Given the description of an element on the screen output the (x, y) to click on. 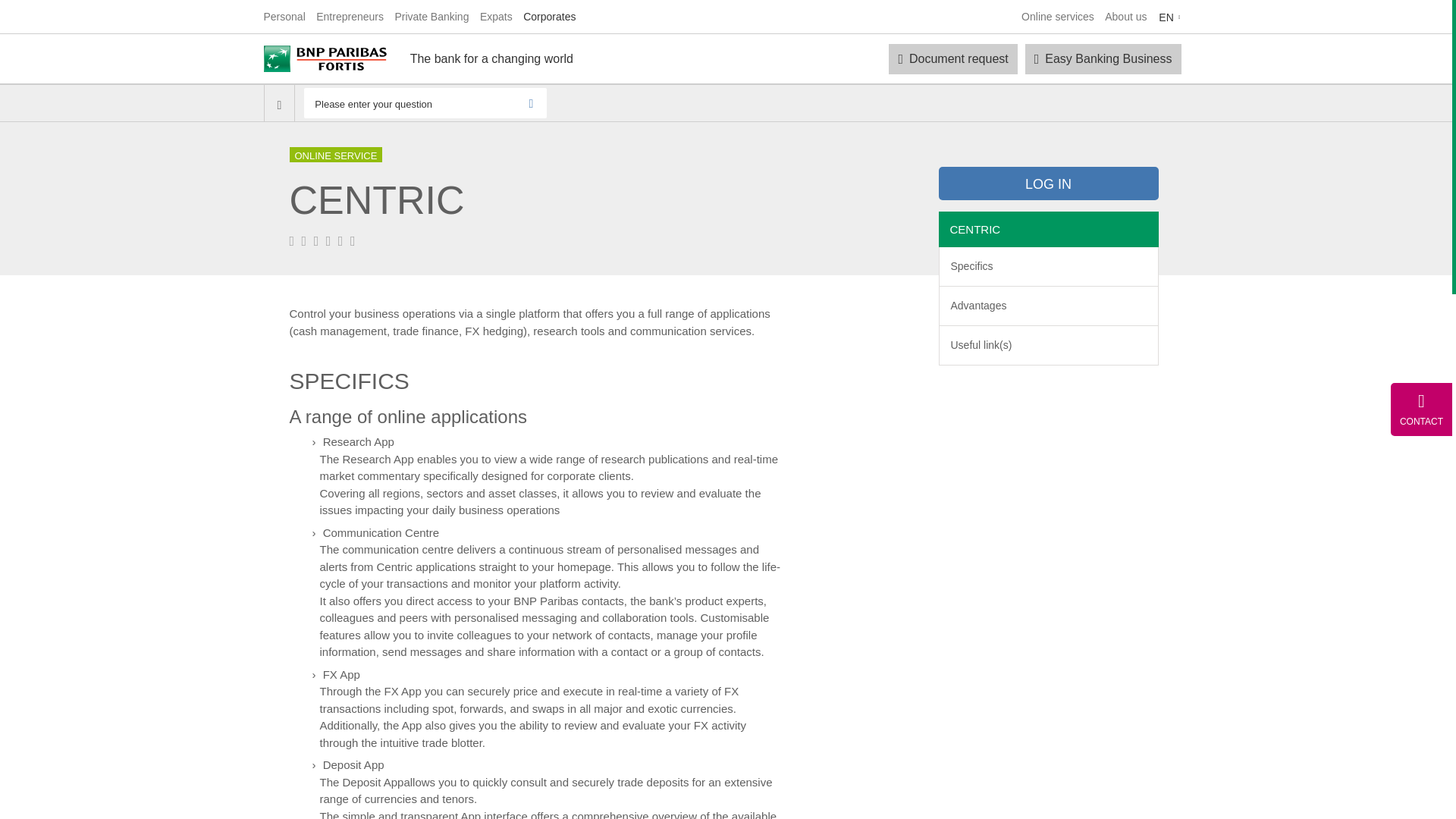
Expats (496, 16)
Entrepreneurs (349, 16)
Document request (952, 59)
Online services (1058, 16)
Easy Banking Business (1102, 59)
EN (1170, 17)
Corporates (548, 16)
Private Banking (431, 16)
About us (1126, 16)
Personal (284, 16)
